Given the description of an element on the screen output the (x, y) to click on. 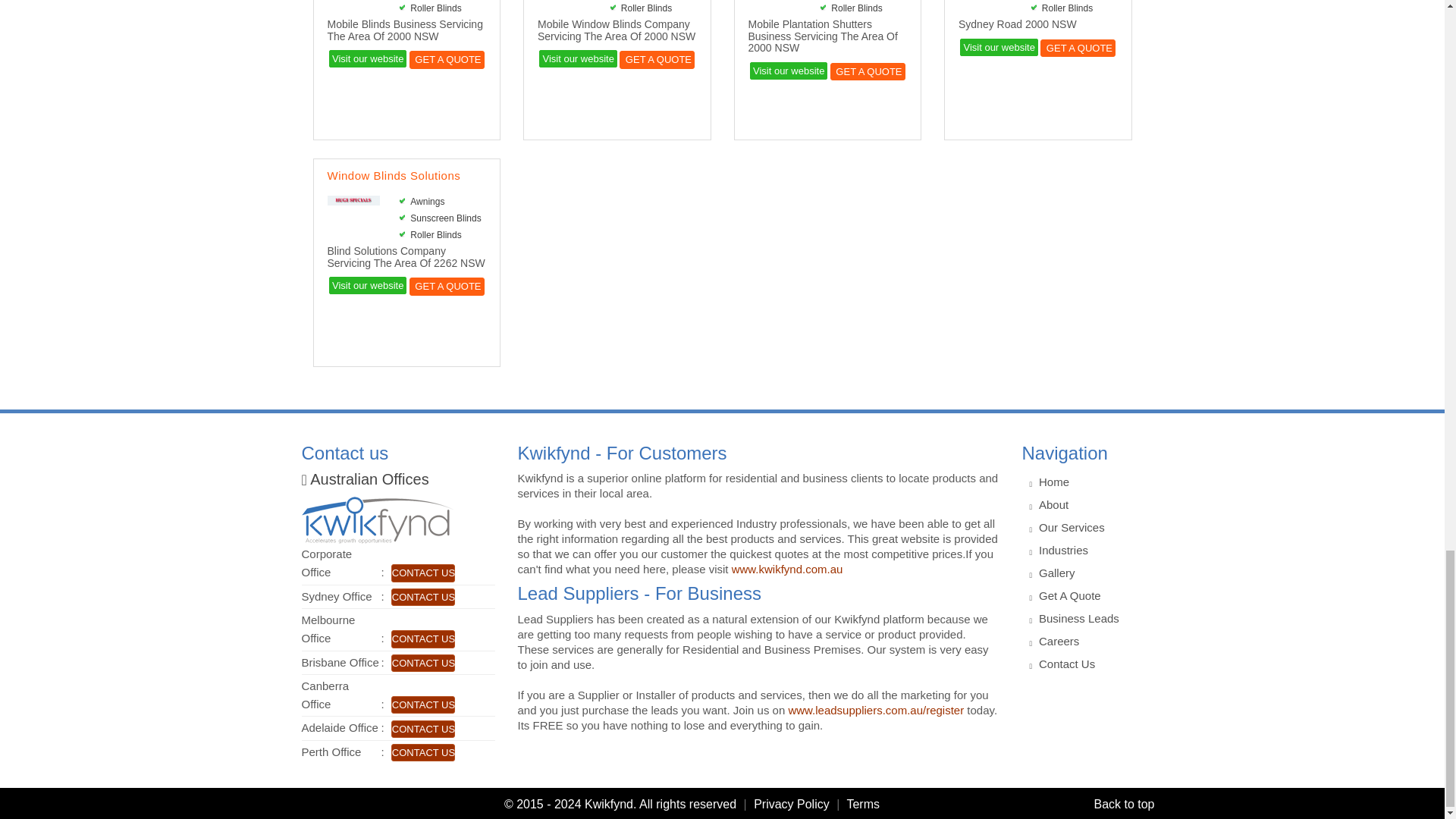
GET A QUOTE (657, 58)
Visit our website (997, 47)
GET A QUOTE (1078, 47)
Visit our website (367, 58)
Visit our website (367, 285)
Visit our website (576, 58)
GET A QUOTE (446, 58)
Visit our website (788, 70)
GET A QUOTE (867, 71)
